Given the description of an element on the screen output the (x, y) to click on. 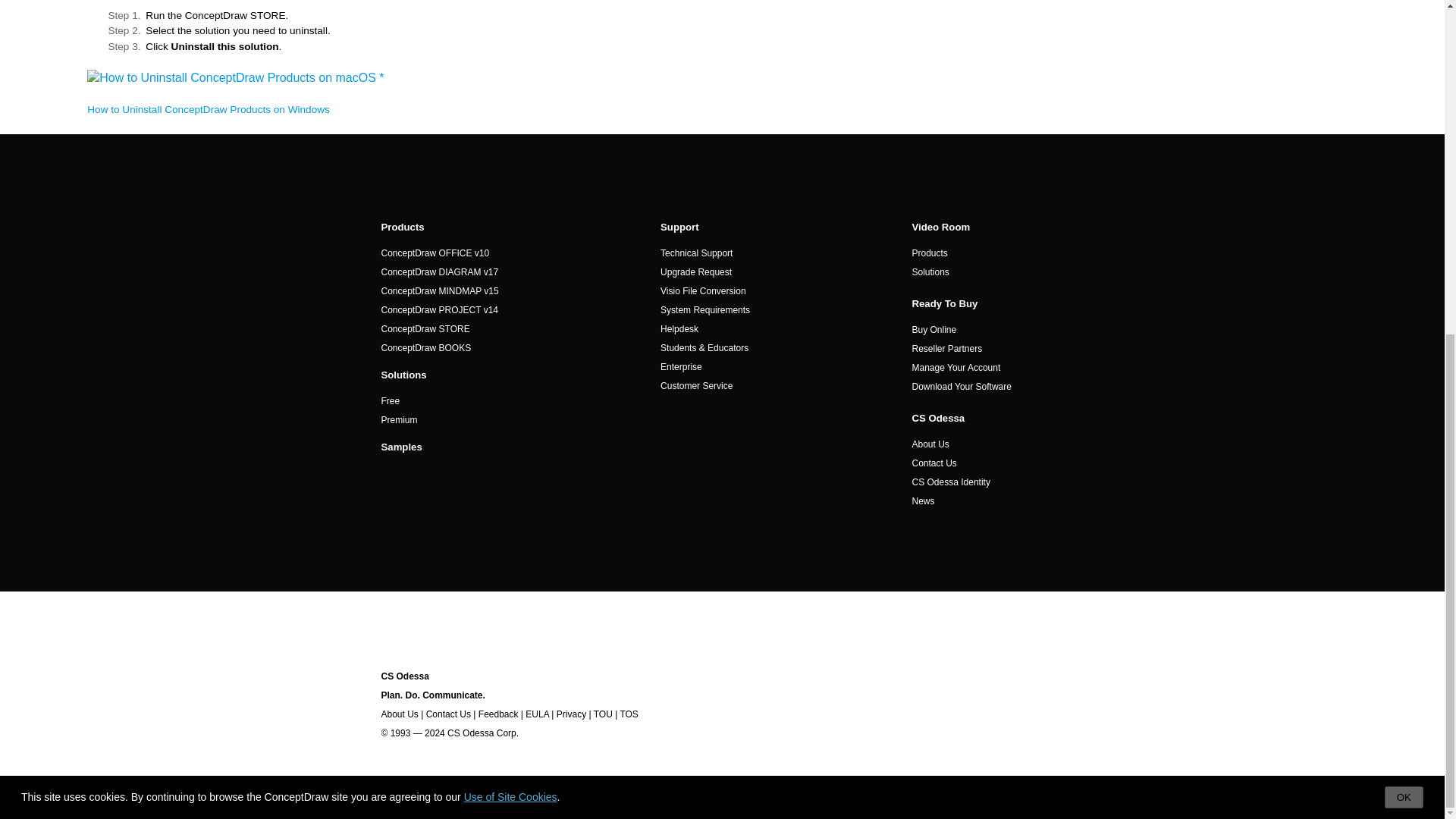
Premium (398, 419)
How to Uninstall ConceptDraw Products on Windows (208, 109)
ConceptDraw MINDMAP v15 (438, 290)
Samples (401, 446)
OK (1403, 237)
ConceptDraw OFFICE v10 (434, 253)
ConceptDraw BOOKS (425, 347)
Solutions (403, 374)
ConceptDraw STORE (424, 328)
Products (401, 226)
ConceptDraw PROJECT v14 (438, 309)
Free (389, 400)
Upgrade Request (696, 271)
ConceptDraw DIAGRAM v17 (438, 271)
Use of Site Cookies (510, 236)
